Given the description of an element on the screen output the (x, y) to click on. 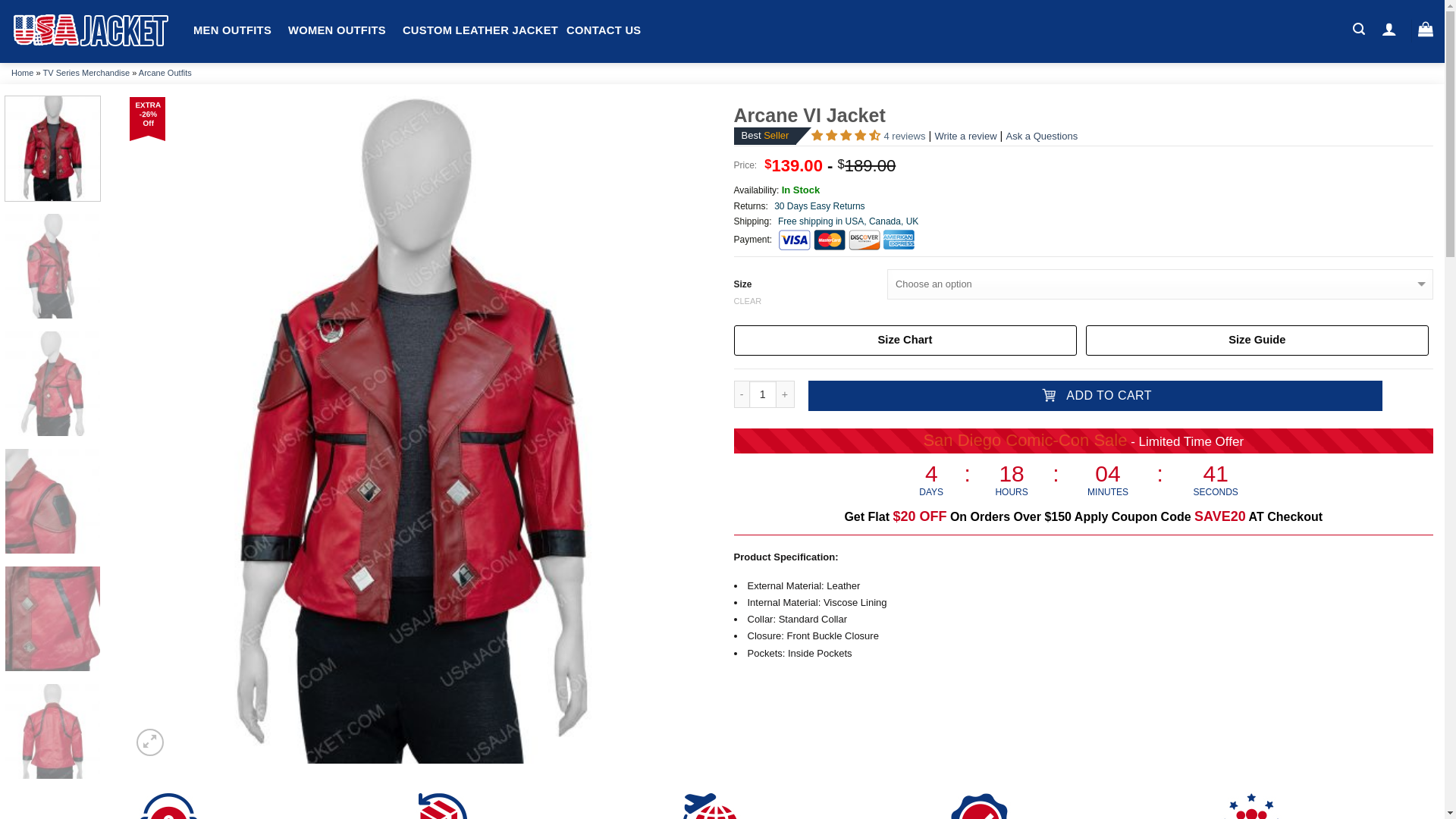
USA Jacket - Wrap Yourself In Jackets (90, 31)
Ask a Questions (1042, 135)
Size Chart (905, 340)
TV Series Merchandise (87, 71)
Home (22, 71)
CONTACT US (603, 30)
1 (762, 393)
WOMEN OUTFITS (336, 30)
CUSTOM LEATHER JACKET (480, 30)
CLEAR (1083, 300)
MEN OUTFITS (231, 30)
Arcane Outfits (165, 71)
Write a review (964, 135)
